Given the description of an element on the screen output the (x, y) to click on. 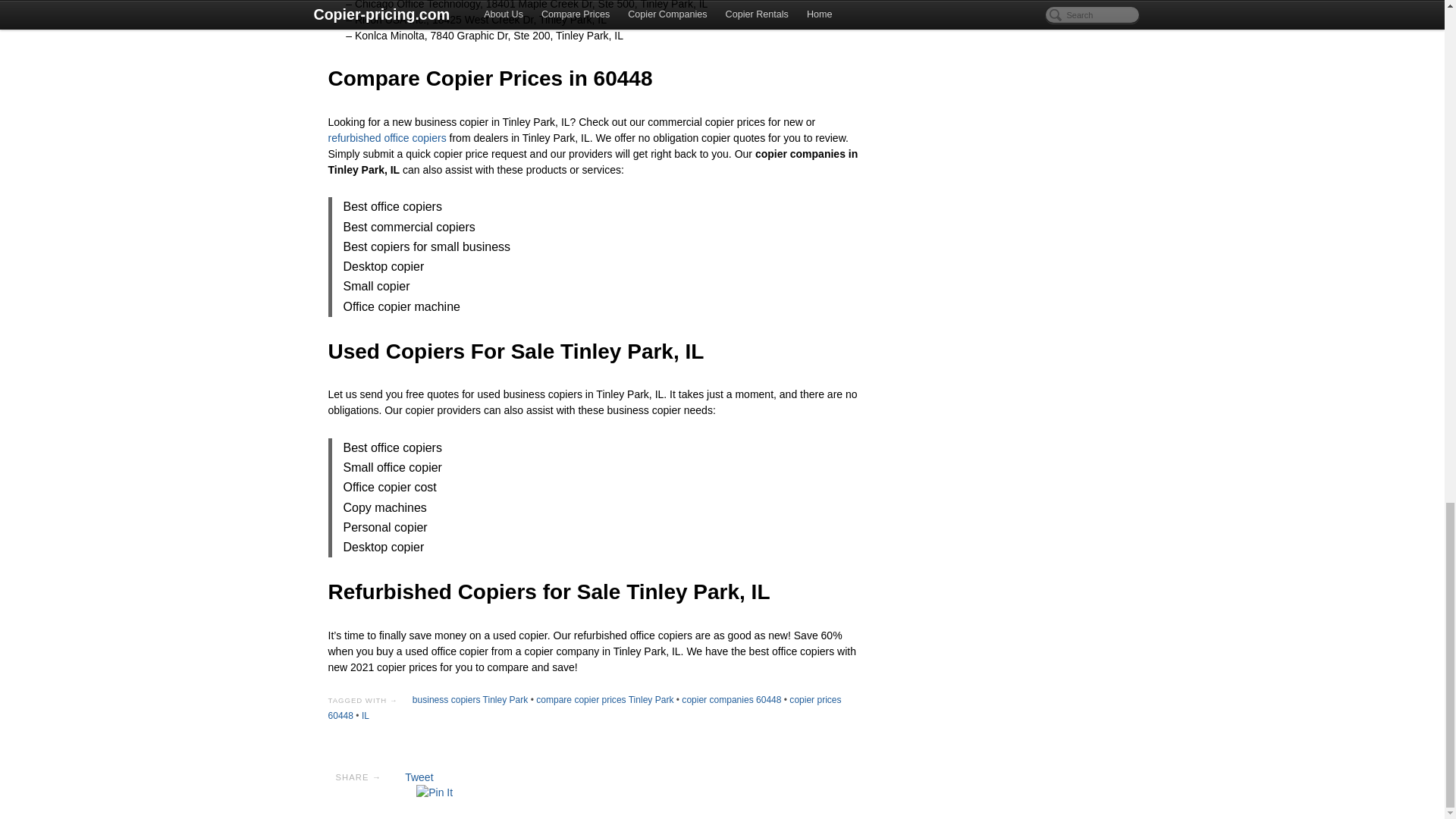
business copiers Tinley Park (469, 699)
refurbished office copiers (386, 137)
copier prices 60448 (584, 707)
copier companies 60448 (730, 699)
Pin It (434, 792)
Tweet (418, 776)
compare copier prices Tinley Park (603, 699)
